Given the description of an element on the screen output the (x, y) to click on. 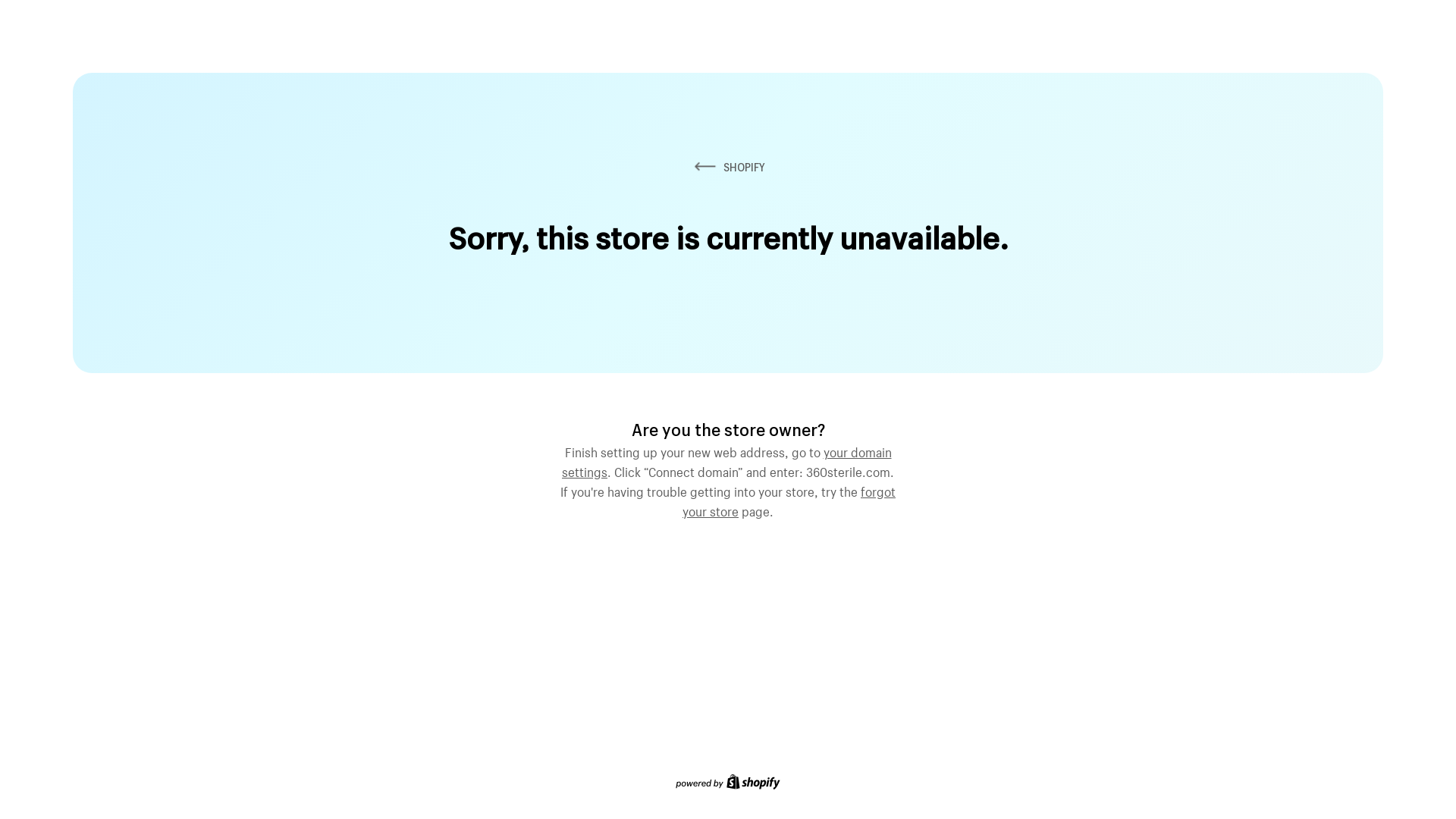
SHOPIFY Element type: text (727, 167)
your domain settings Element type: text (726, 460)
forgot your store Element type: text (788, 499)
